Given the description of an element on the screen output the (x, y) to click on. 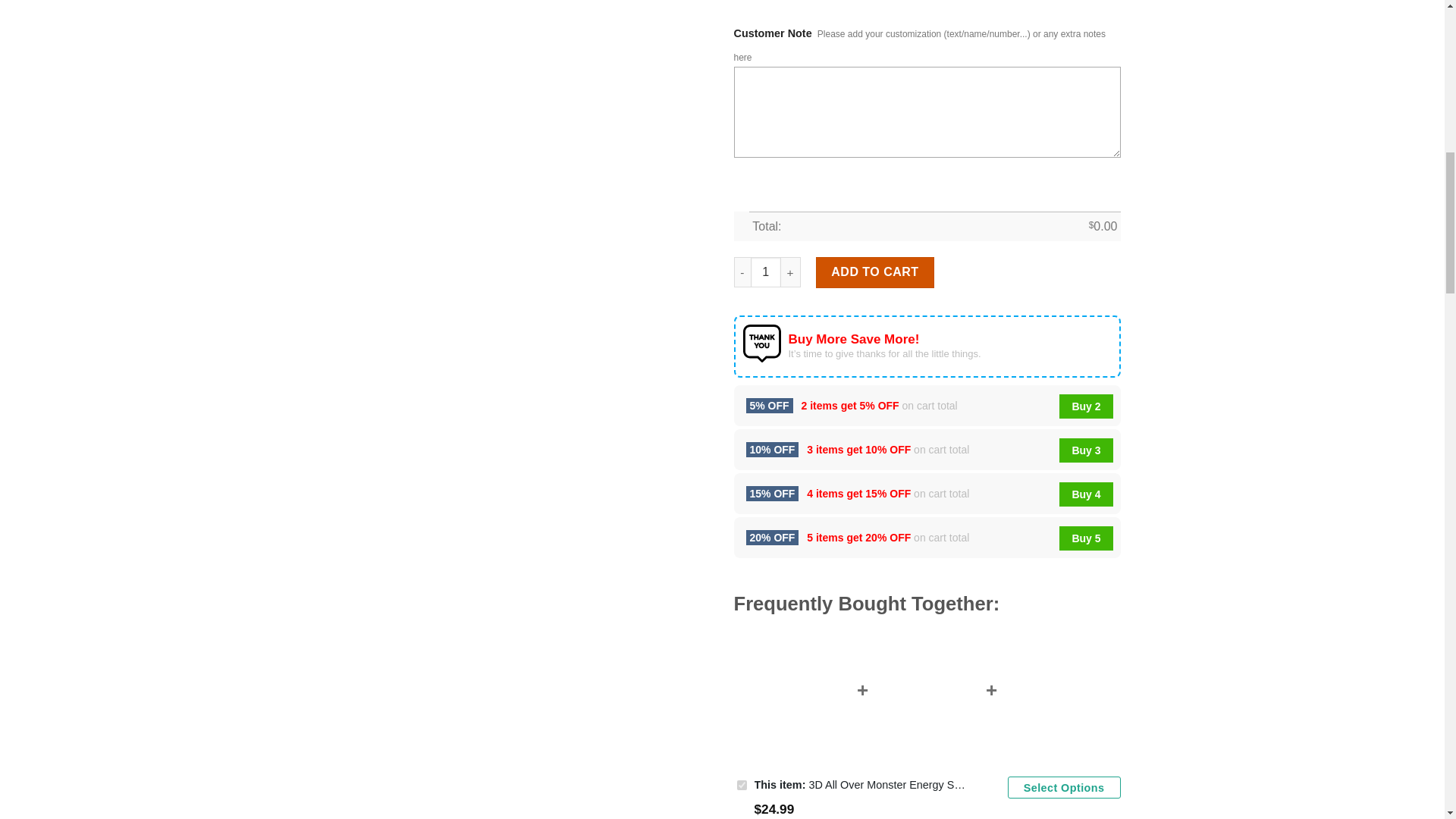
1 (765, 272)
23607 (741, 785)
